Given the description of an element on the screen output the (x, y) to click on. 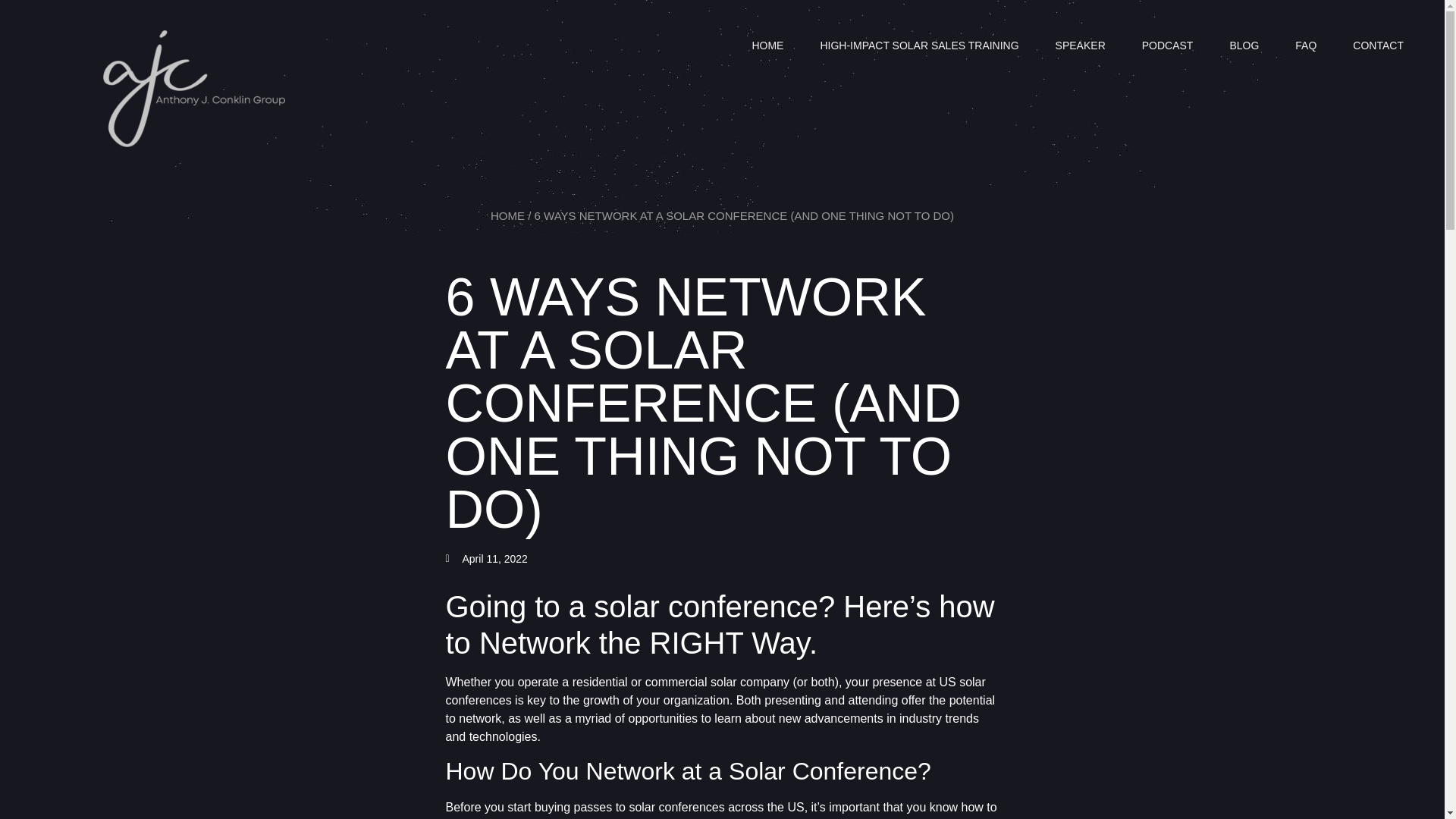
BLOG (1243, 45)
CONTACT (1378, 45)
HIGH-IMPACT SOLAR SALES TRAINING (919, 45)
SPEAKER (1080, 45)
FAQ (1305, 45)
April 11, 2022 (486, 559)
HOME (767, 45)
HOME (507, 215)
PODCAST (1167, 45)
